Given the description of an element on the screen output the (x, y) to click on. 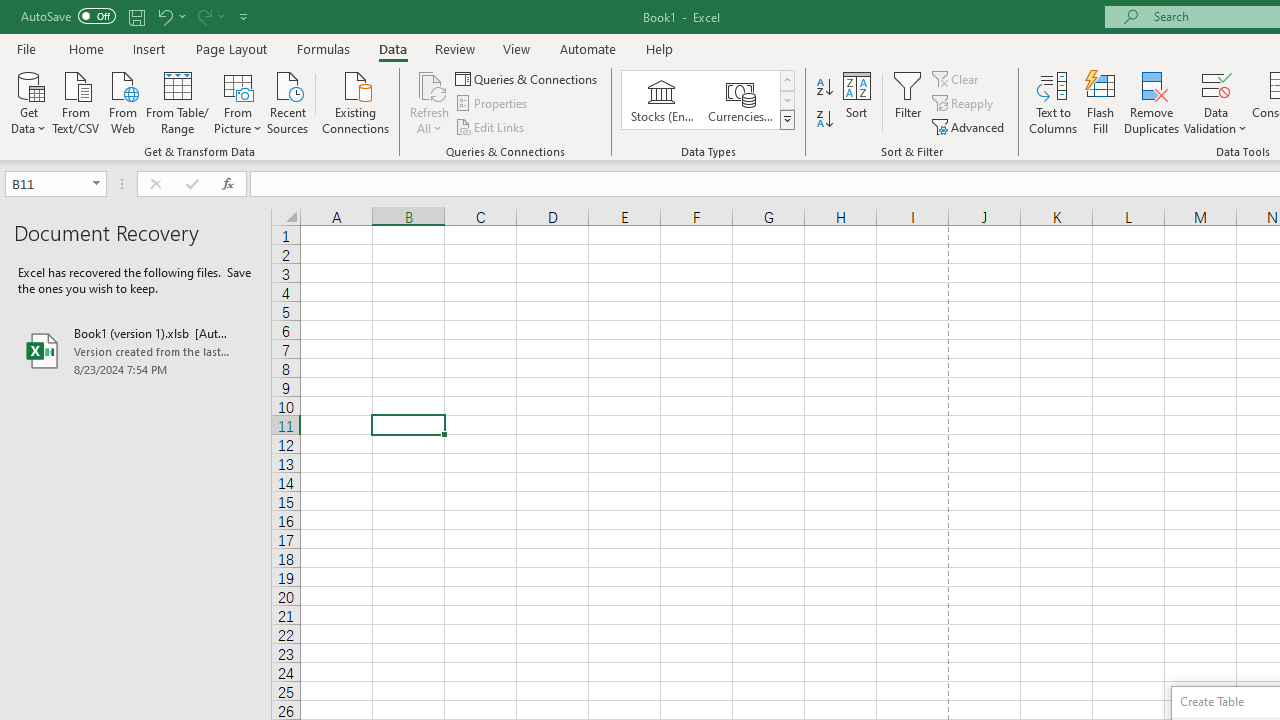
Sort Z to A (824, 119)
Advanced... (970, 126)
Properties (492, 103)
Sort A to Z (824, 87)
Stocks (English) (662, 100)
Edit Links (491, 126)
